Given the description of an element on the screen output the (x, y) to click on. 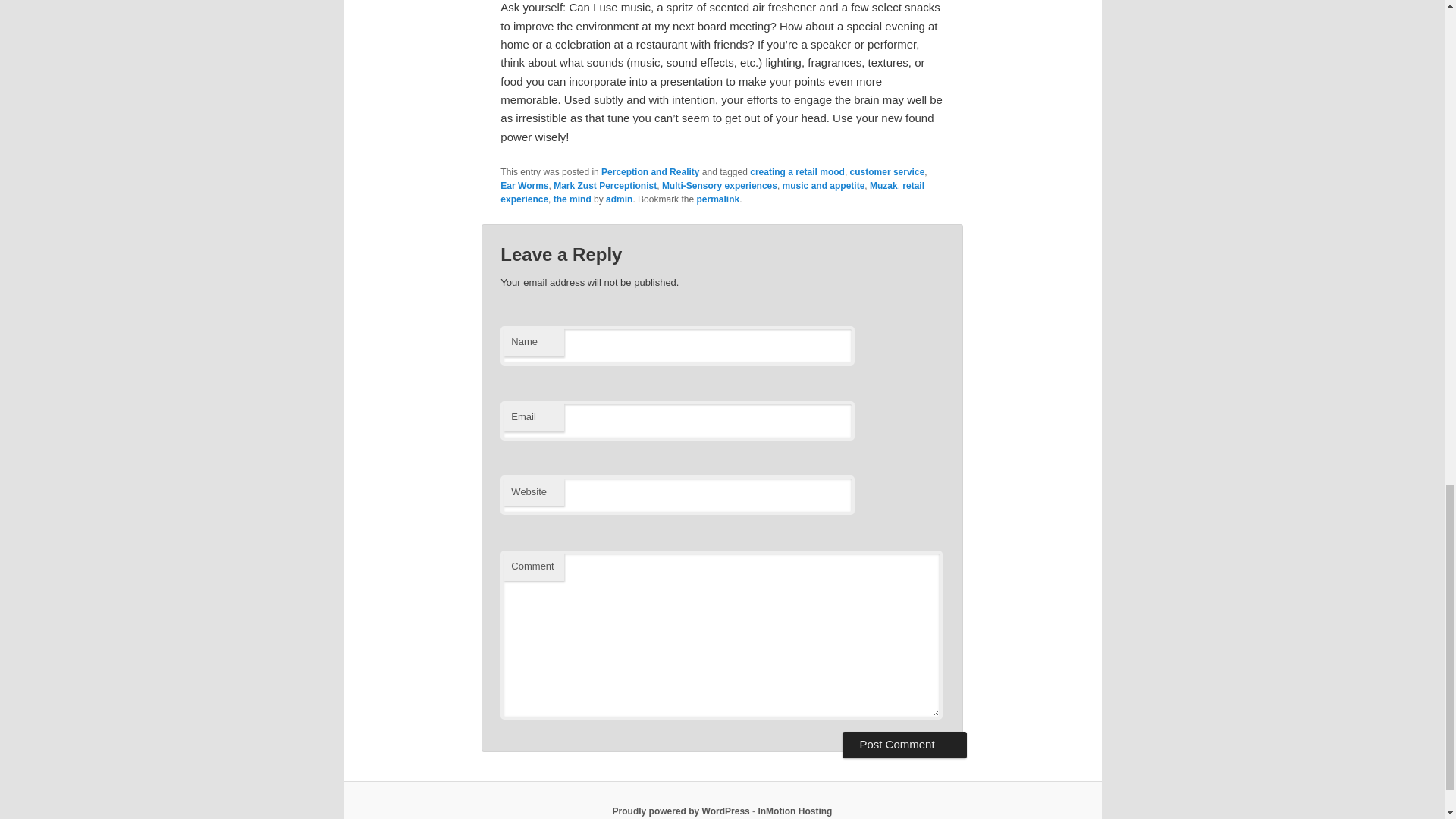
admin (618, 199)
InMotion Hosting (794, 810)
Permalink to Mind Muzak (717, 199)
Muzak (883, 185)
permalink (717, 199)
Ear Worms (524, 185)
creating a retail mood (796, 172)
music and appetite (823, 185)
Multi-Sensory experiences (719, 185)
Proudly powered by WordPress (680, 810)
Mark Zust Perceptionist (604, 185)
Post Comment (904, 744)
Post Comment (904, 744)
the mind (572, 199)
Semantic Personal Publishing Platform (680, 810)
